Given the description of an element on the screen output the (x, y) to click on. 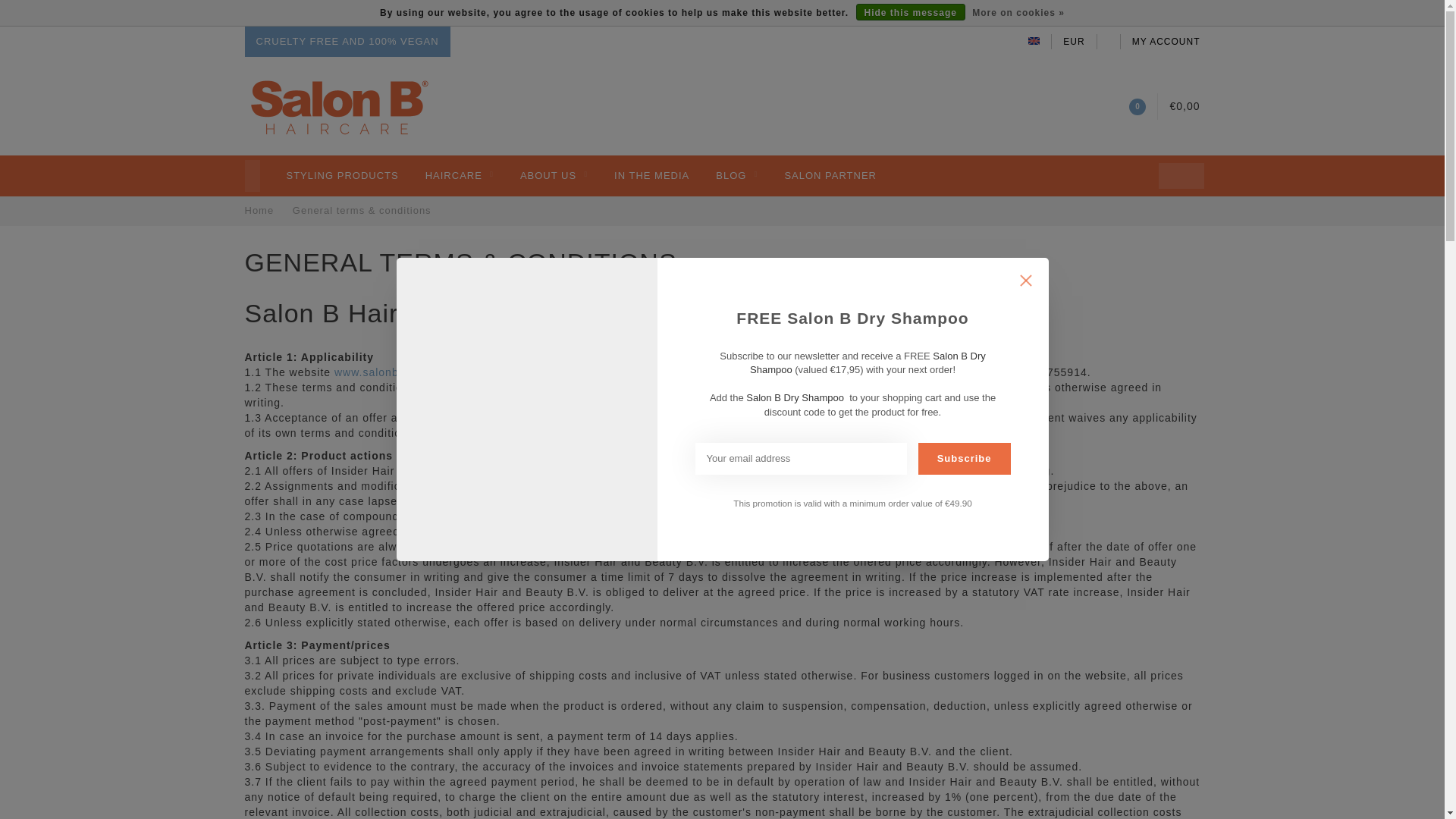
Hide this message (910, 12)
HAIRCARE (459, 175)
ABOUT US (553, 175)
BLOG (736, 175)
MY ACCOUNT (1165, 41)
More on cookies (1018, 13)
STYLING PRODUCTS (342, 175)
Home (258, 210)
IN THE MEDIA (651, 175)
EUR (1073, 41)
